Given the description of an element on the screen output the (x, y) to click on. 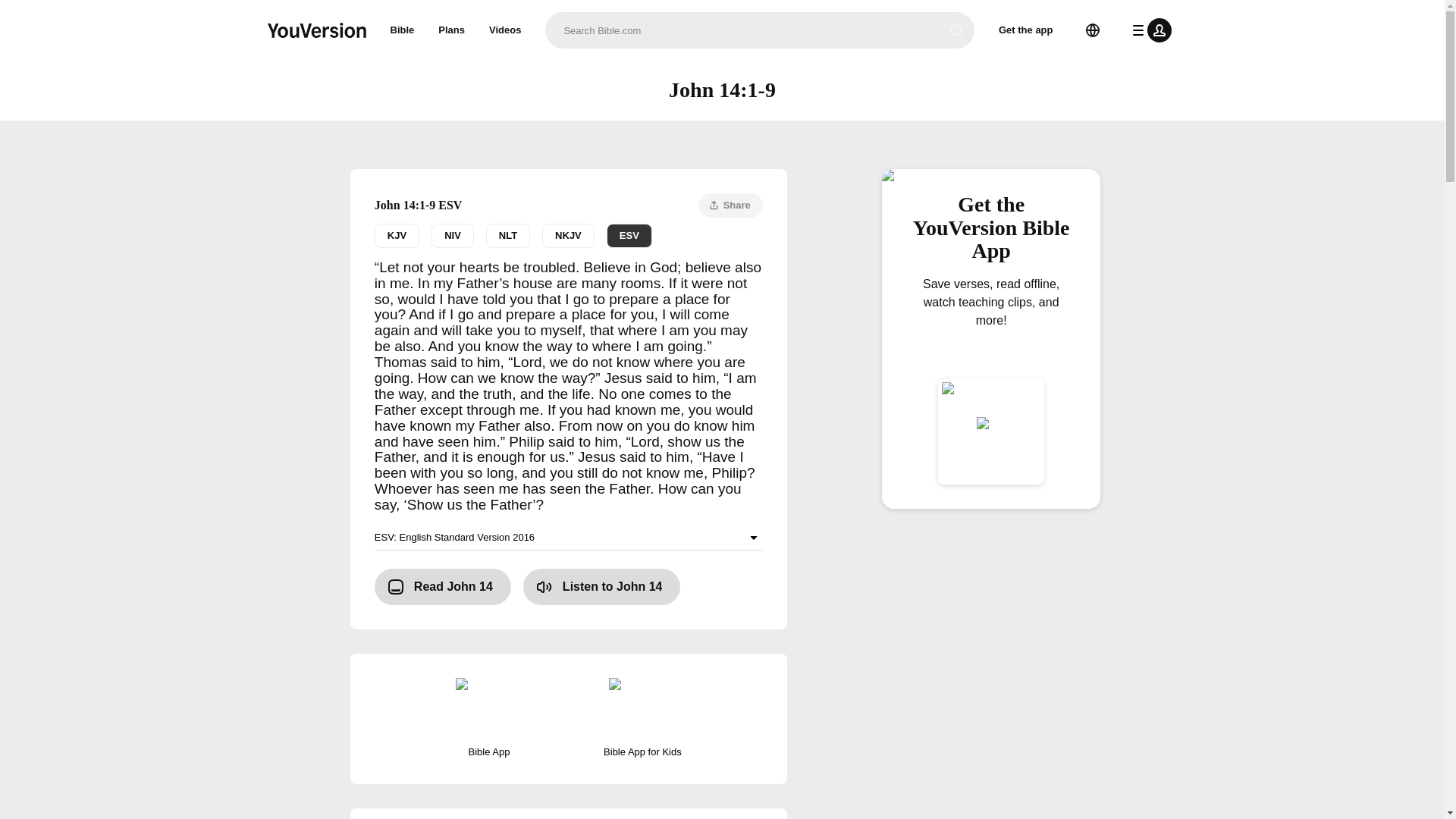
NLT (507, 235)
KJV (396, 235)
NIV (452, 235)
Bible App for Kids (642, 719)
Plans (451, 29)
NKJV (567, 235)
ESV (629, 235)
Bible App (488, 719)
Read John 14 (442, 586)
Listen to John 14 (601, 586)
ESV: English Standard Version 2016 (568, 537)
Share (730, 205)
Bible (401, 29)
Get the app (568, 235)
